Given the description of an element on the screen output the (x, y) to click on. 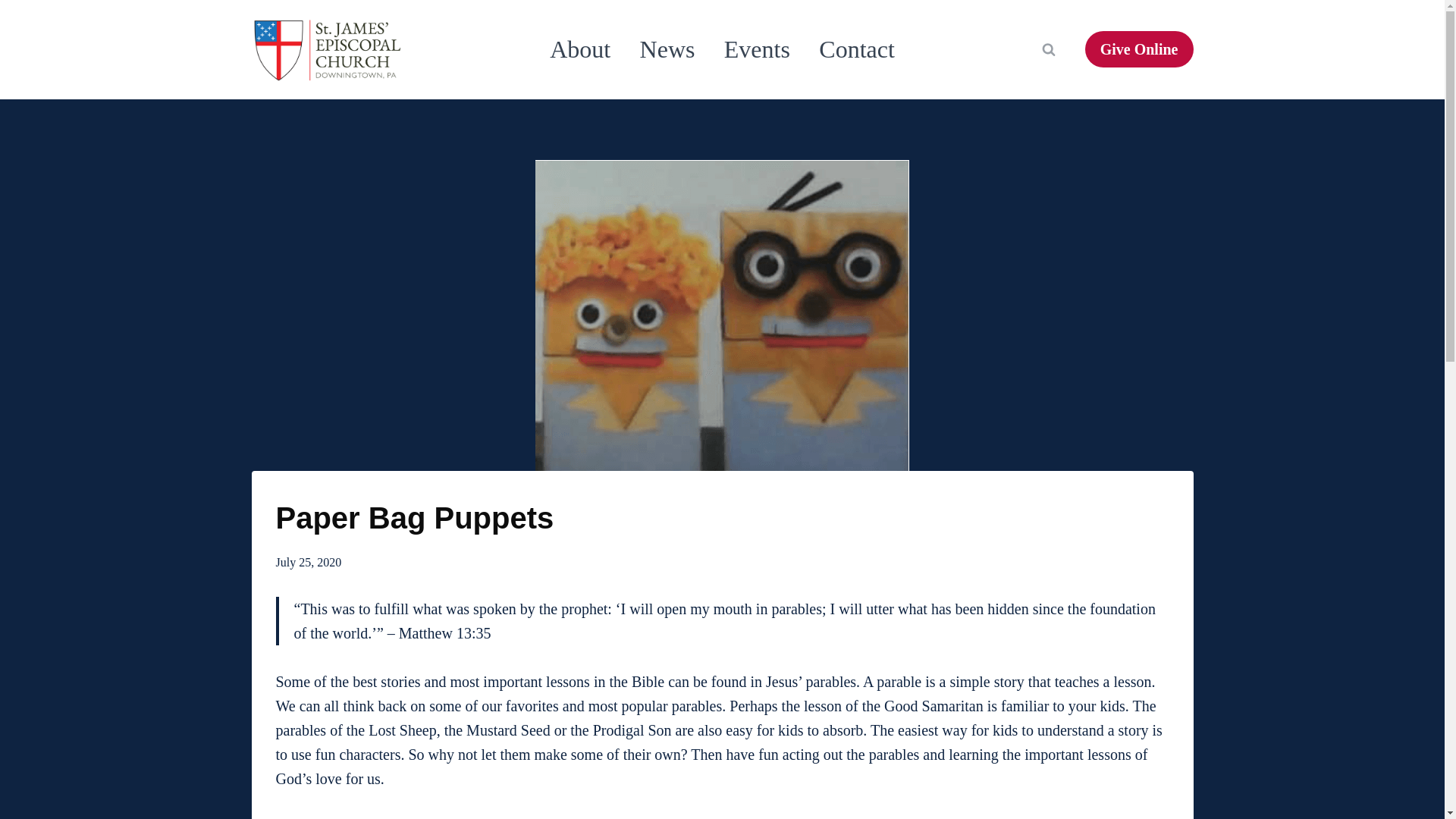
Give Online (1138, 49)
Page 1 (731, 621)
Contact (856, 49)
About (579, 49)
Events (757, 49)
Page 1 (722, 744)
News (666, 49)
